Given the description of an element on the screen output the (x, y) to click on. 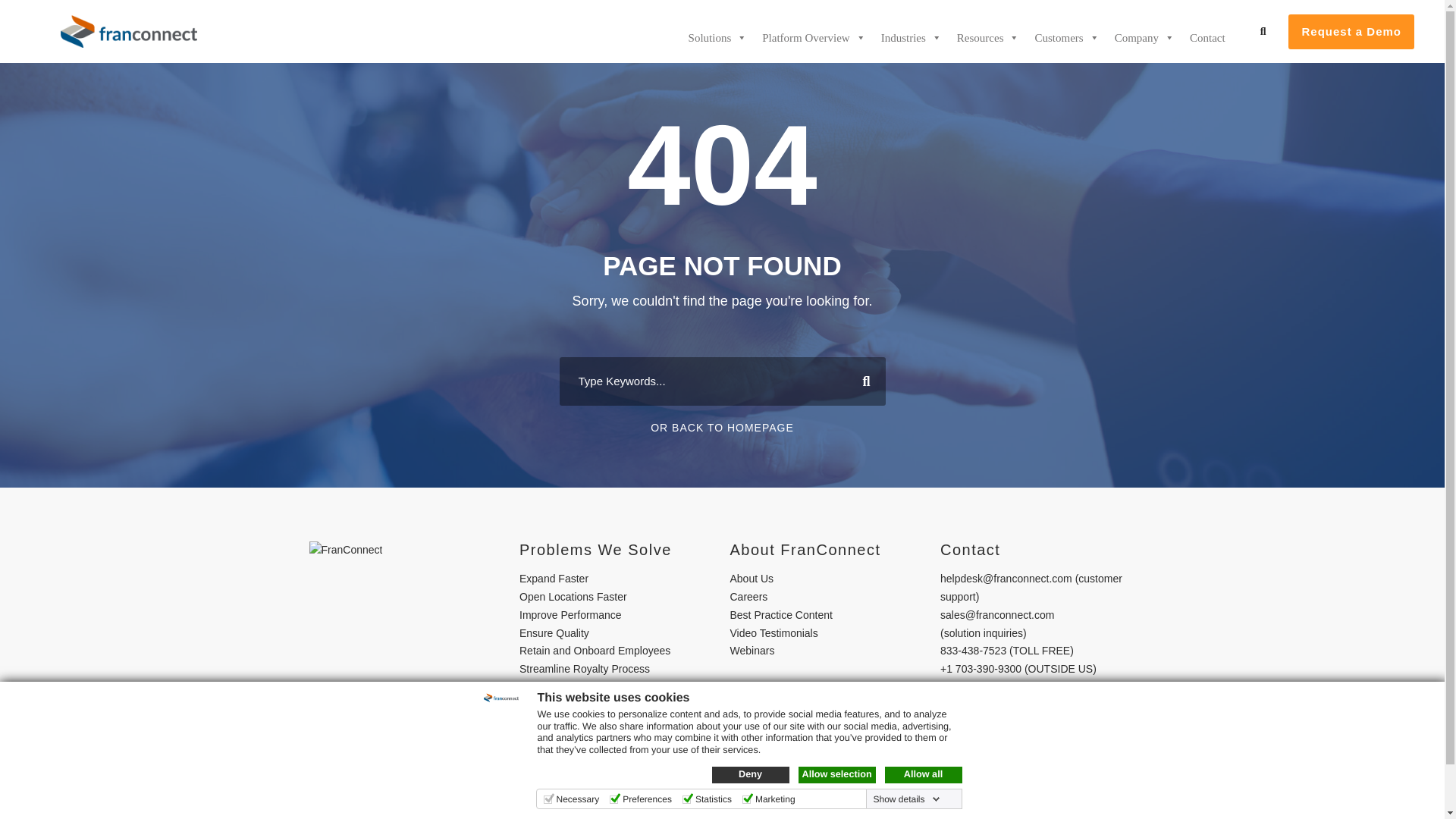
Allow all (921, 774)
Show details (905, 799)
Deny (750, 774)
Allow selection (836, 774)
